Given the description of an element on the screen output the (x, y) to click on. 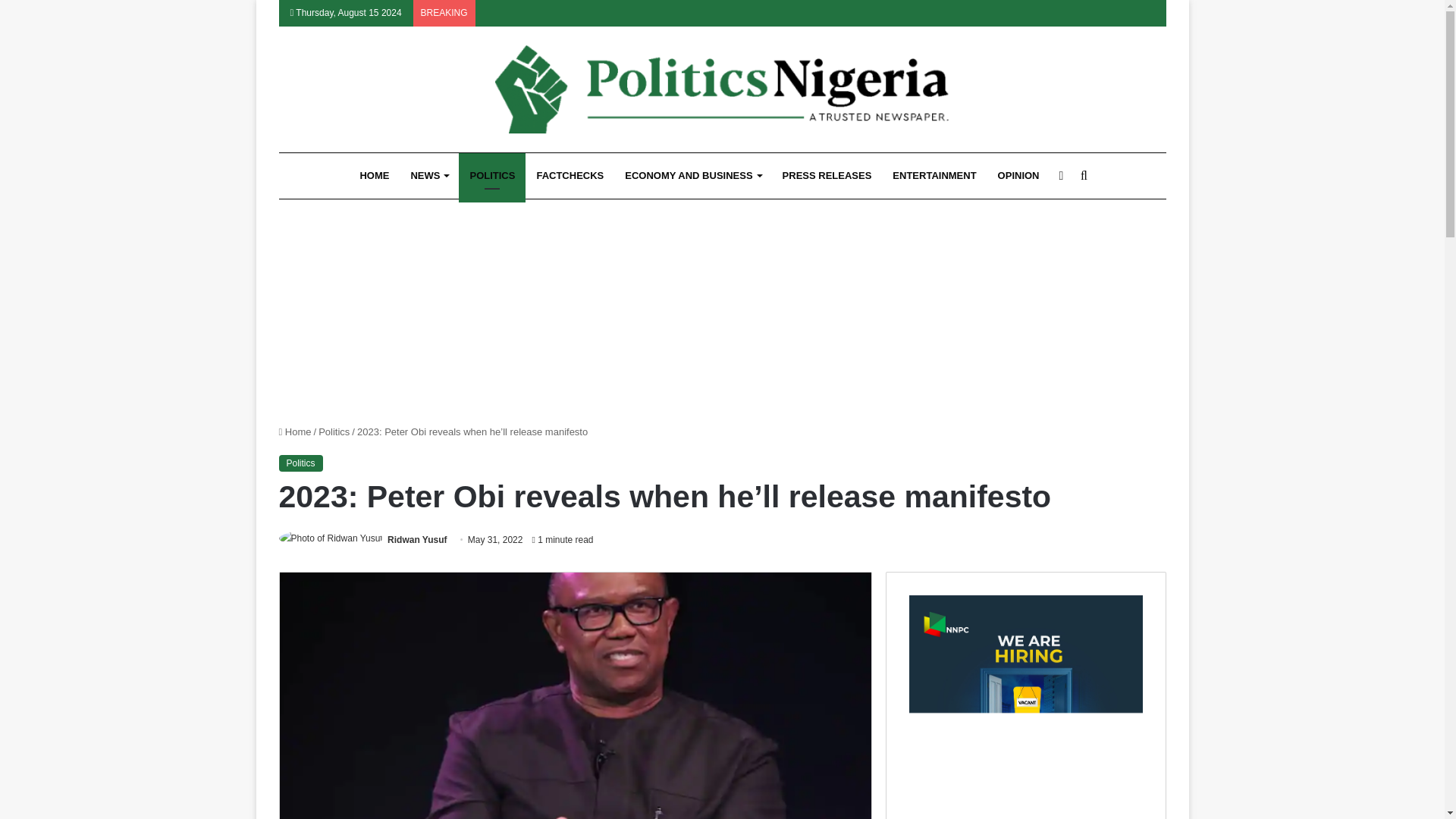
ENTERTAINMENT (934, 176)
ECONOMY AND BUSINESS (692, 176)
Ridwan Yusuf (416, 539)
Politics (333, 431)
NEWS (428, 176)
Home (295, 431)
POLITICS (491, 176)
HOME (373, 176)
Politics (301, 463)
Ridwan Yusuf (416, 539)
